Given the description of an element on the screen output the (x, y) to click on. 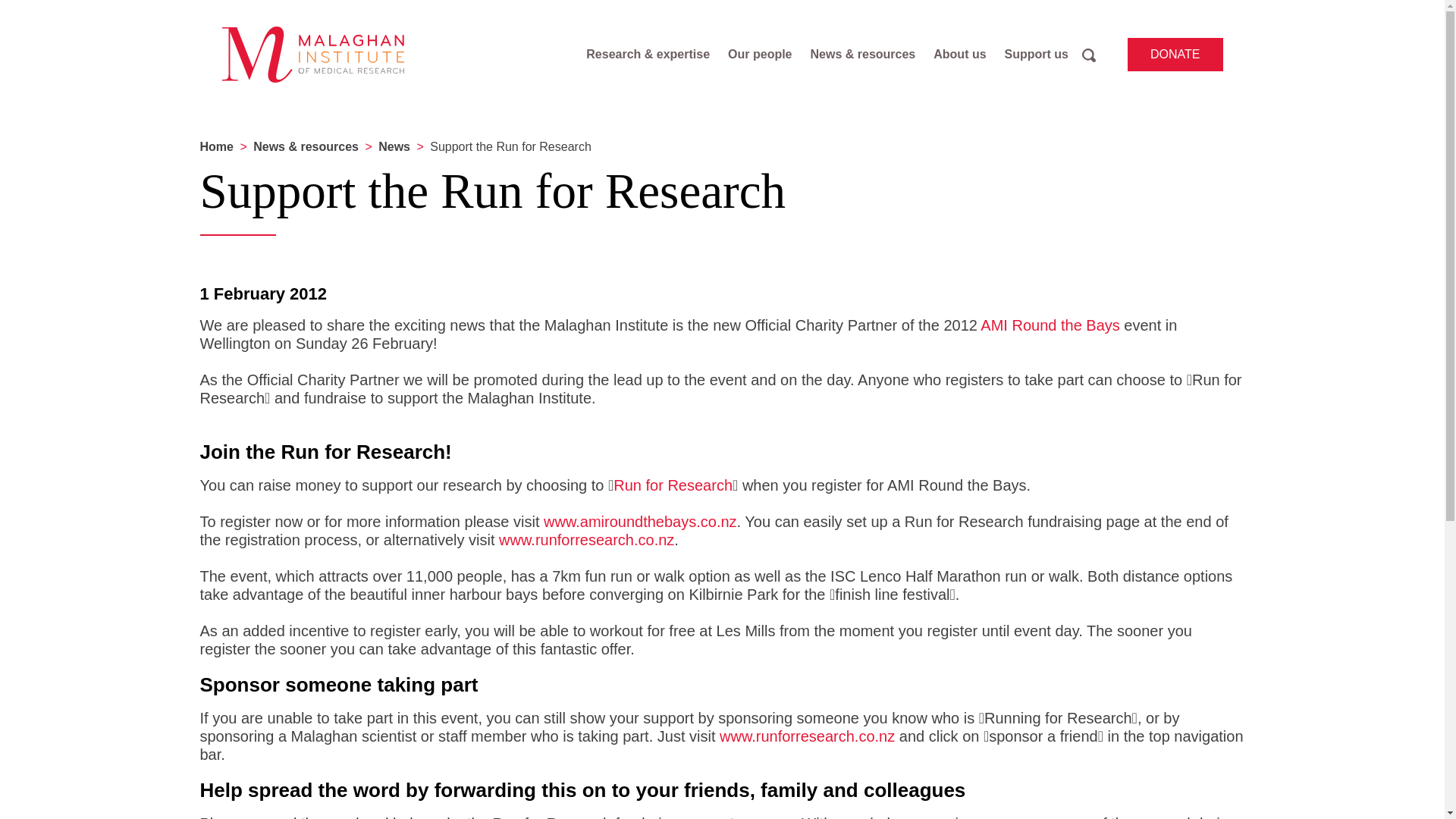
Our people (760, 54)
